Given the description of an element on the screen output the (x, y) to click on. 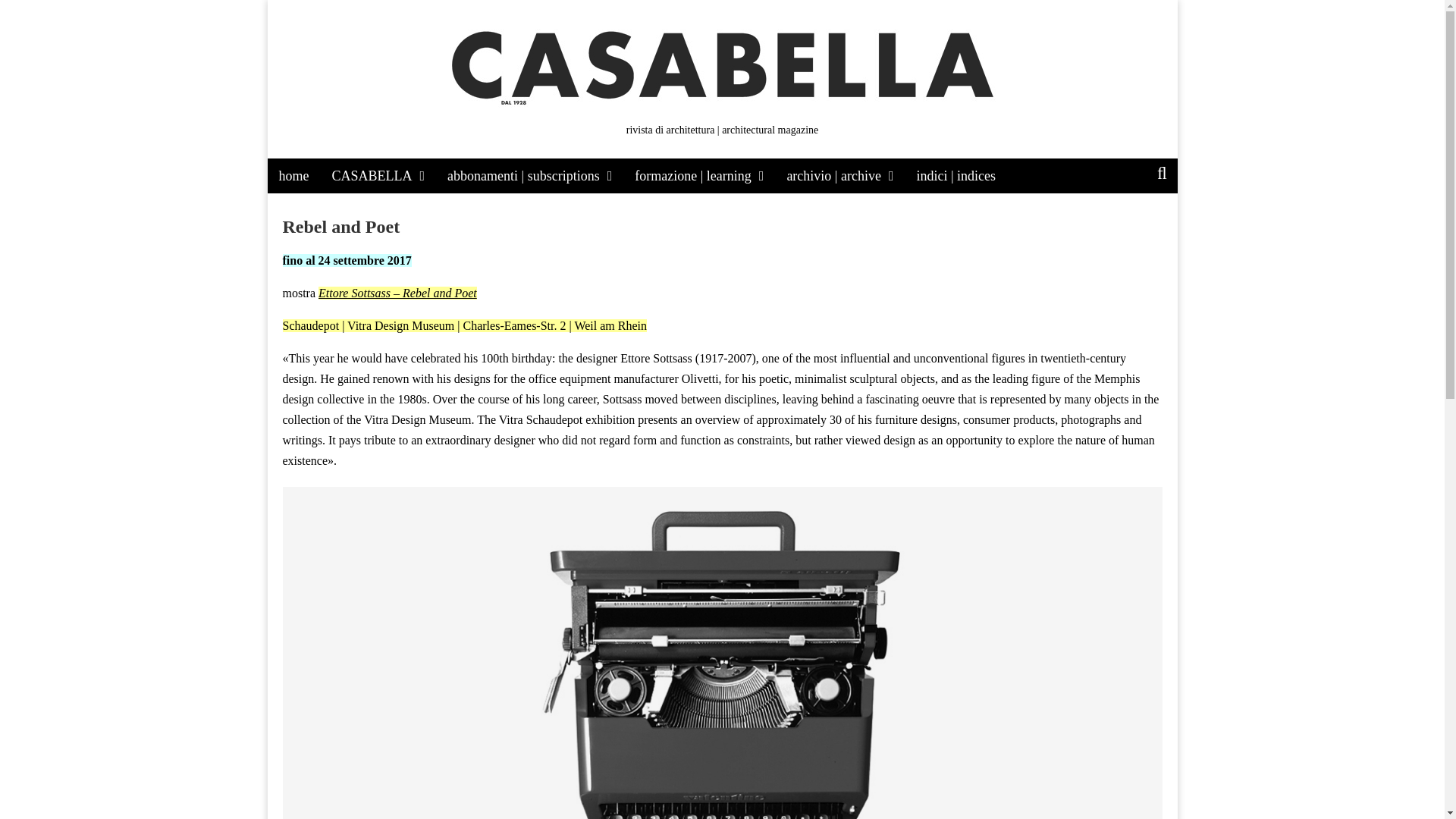
Casabella (357, 165)
Cerca (22, 15)
CASABELLA (377, 175)
Casabella (721, 58)
Casabella (357, 165)
home (293, 175)
